Given the description of an element on the screen output the (x, y) to click on. 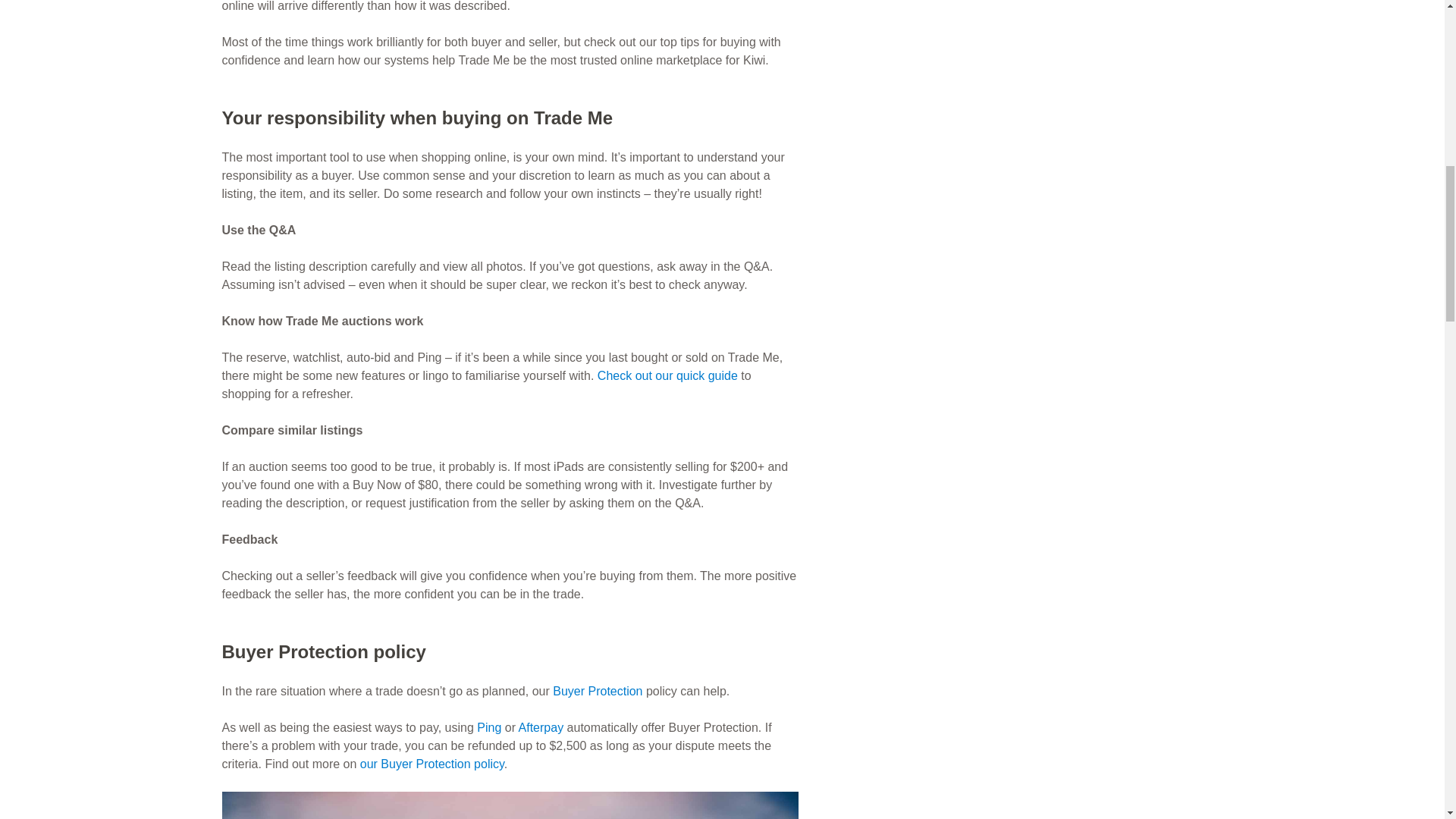
Ping (488, 727)
Afterpay (541, 727)
Buyer Protection (597, 690)
our Buyer Protection policy (431, 763)
Check out our quick guide (667, 375)
